Given the description of an element on the screen output the (x, y) to click on. 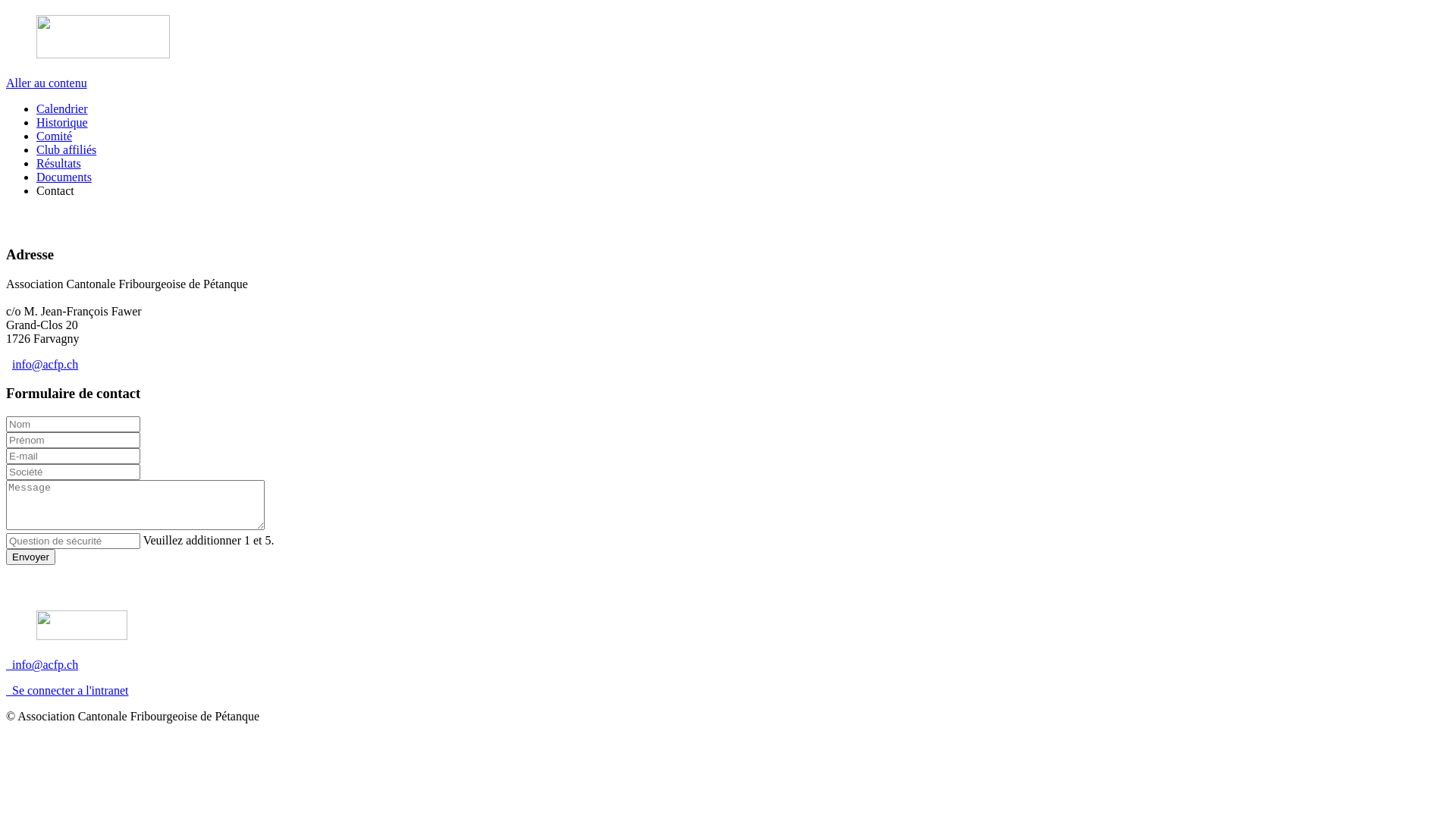
Historique Element type: text (61, 122)
  Element type: text (7, 216)
  info@acfp.ch Element type: text (42, 664)
Aller au contenu Element type: text (46, 82)
  Se connecter a l'intranet Element type: text (67, 690)
Envoyer Element type: text (30, 556)
Documents Element type: text (63, 176)
Calendrier Element type: text (61, 108)
info@acfp.ch Element type: text (45, 363)
